Given the description of an element on the screen output the (x, y) to click on. 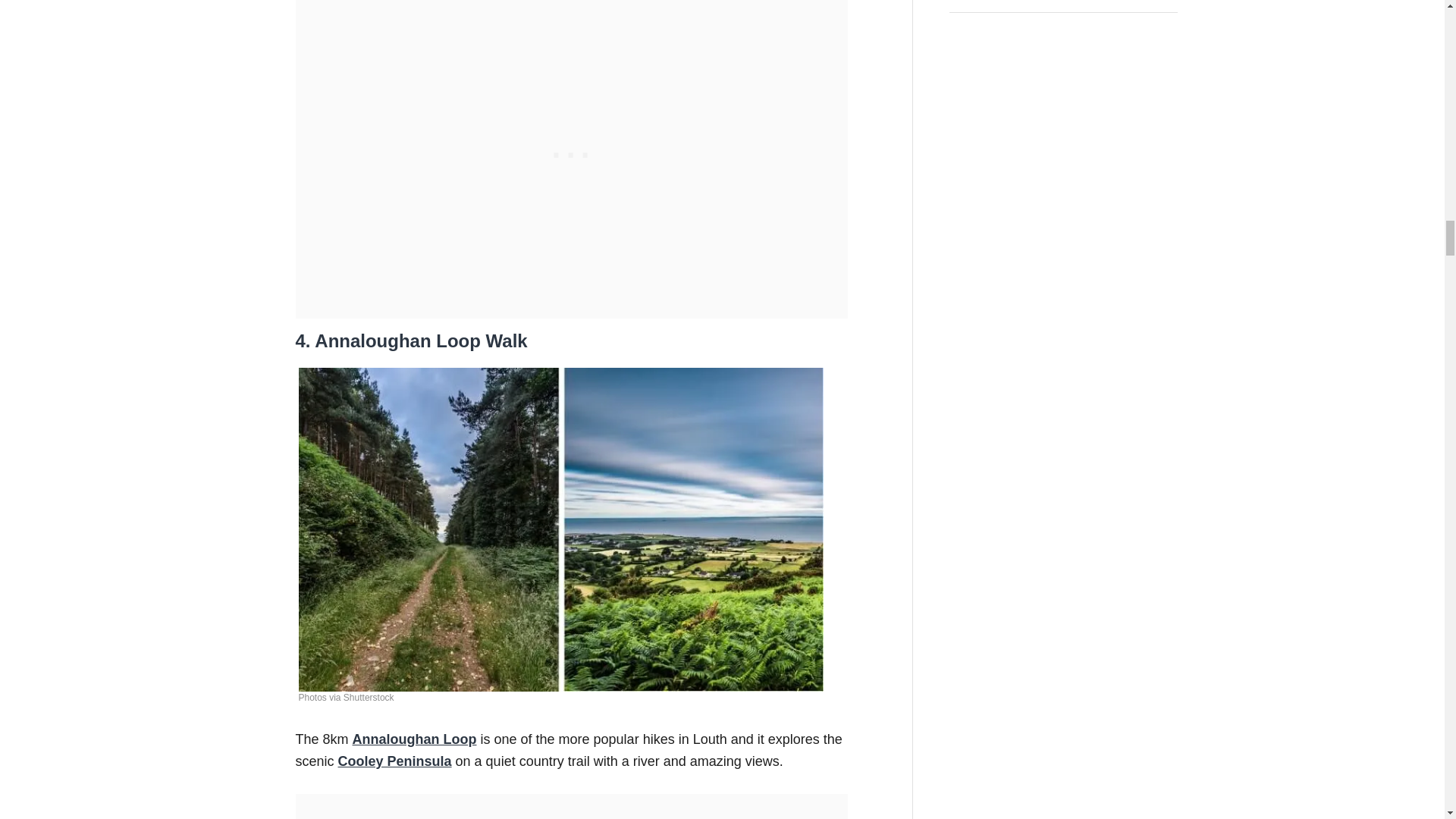
Annaloughan Loop (414, 739)
Cooley Peninsula (394, 761)
